Given the description of an element on the screen output the (x, y) to click on. 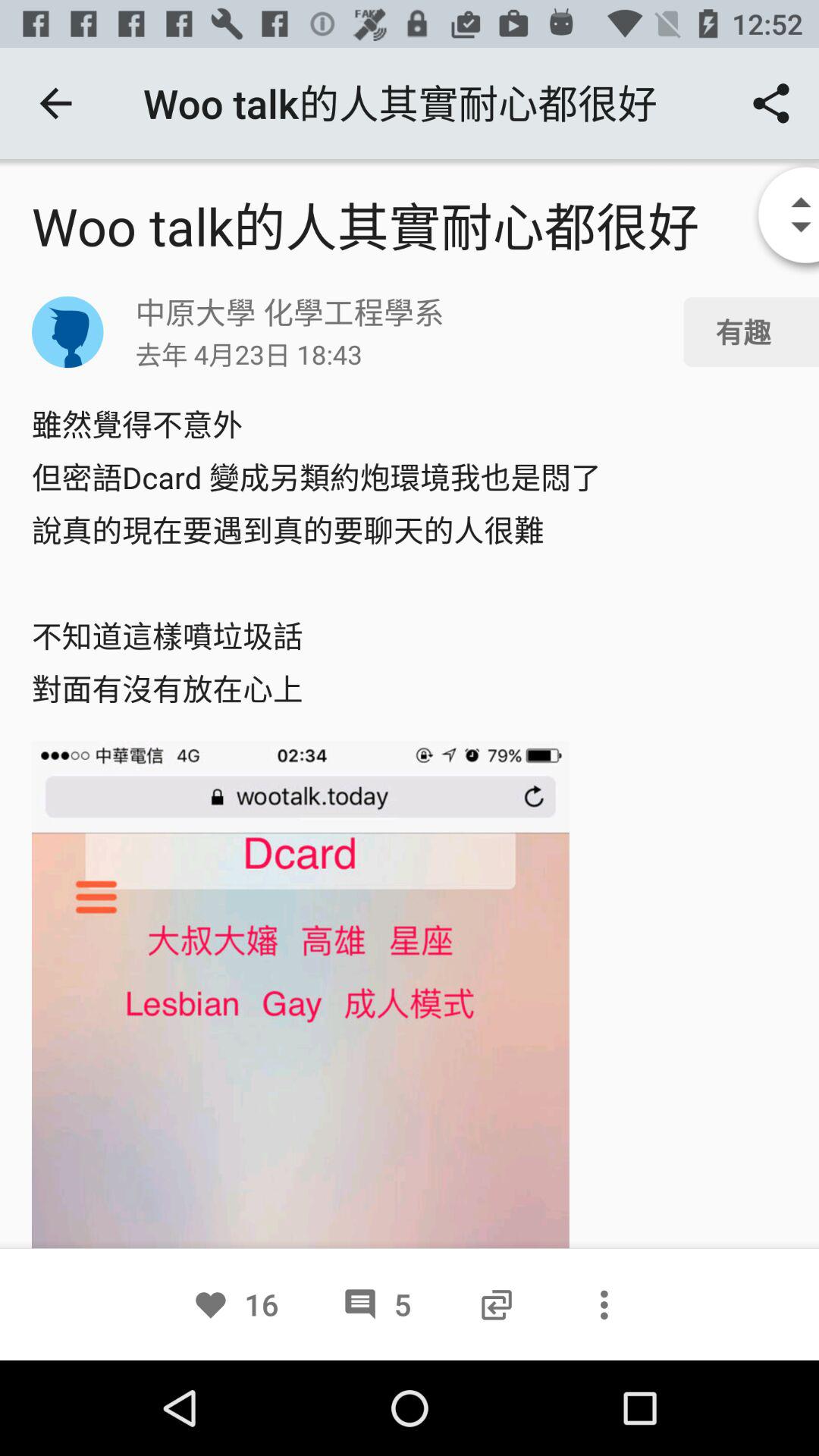
launch the item at the bottom left corner (235, 1304)
